Given the description of an element on the screen output the (x, y) to click on. 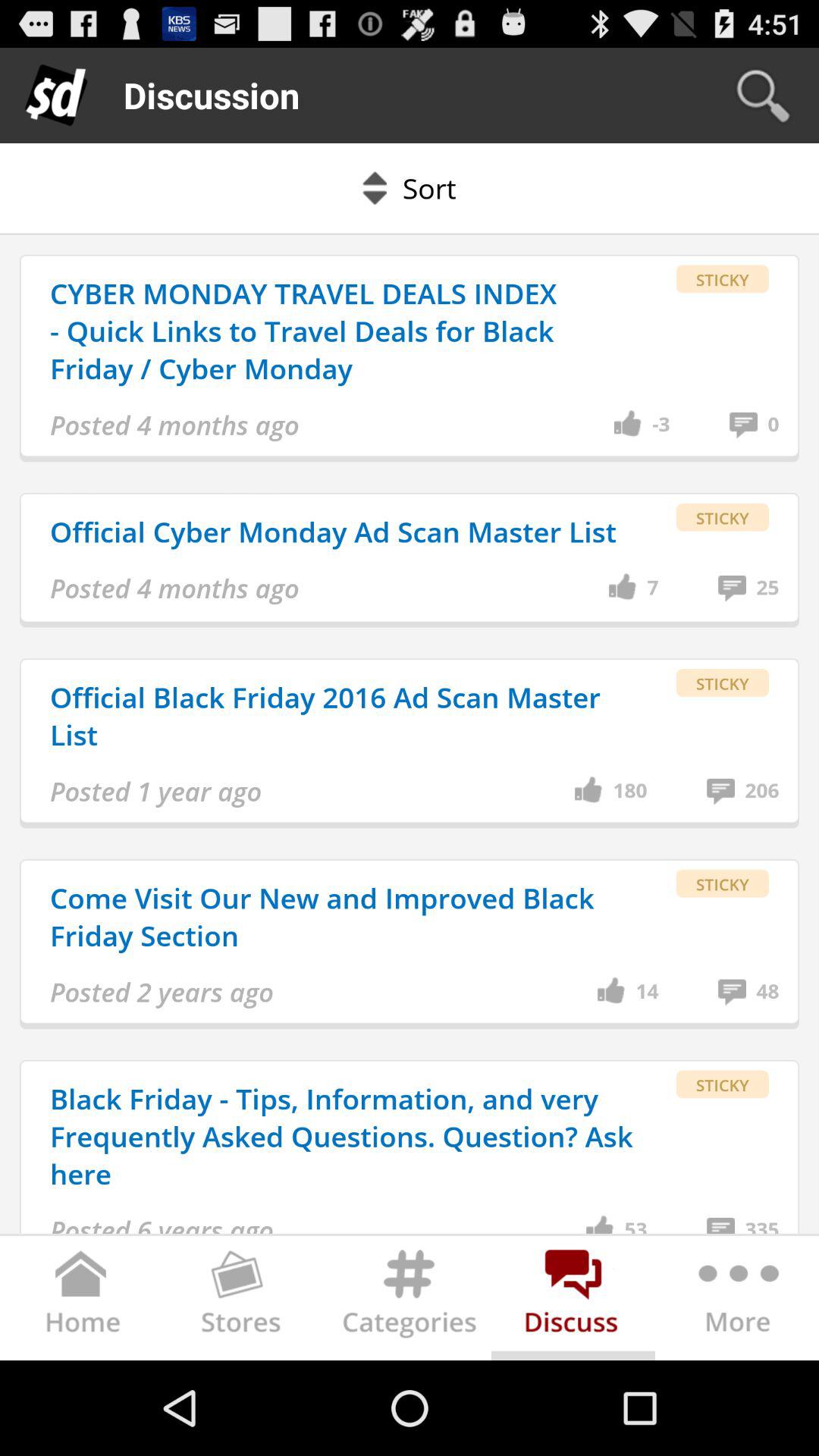
flip to the come visit our (344, 916)
